Given the description of an element on the screen output the (x, y) to click on. 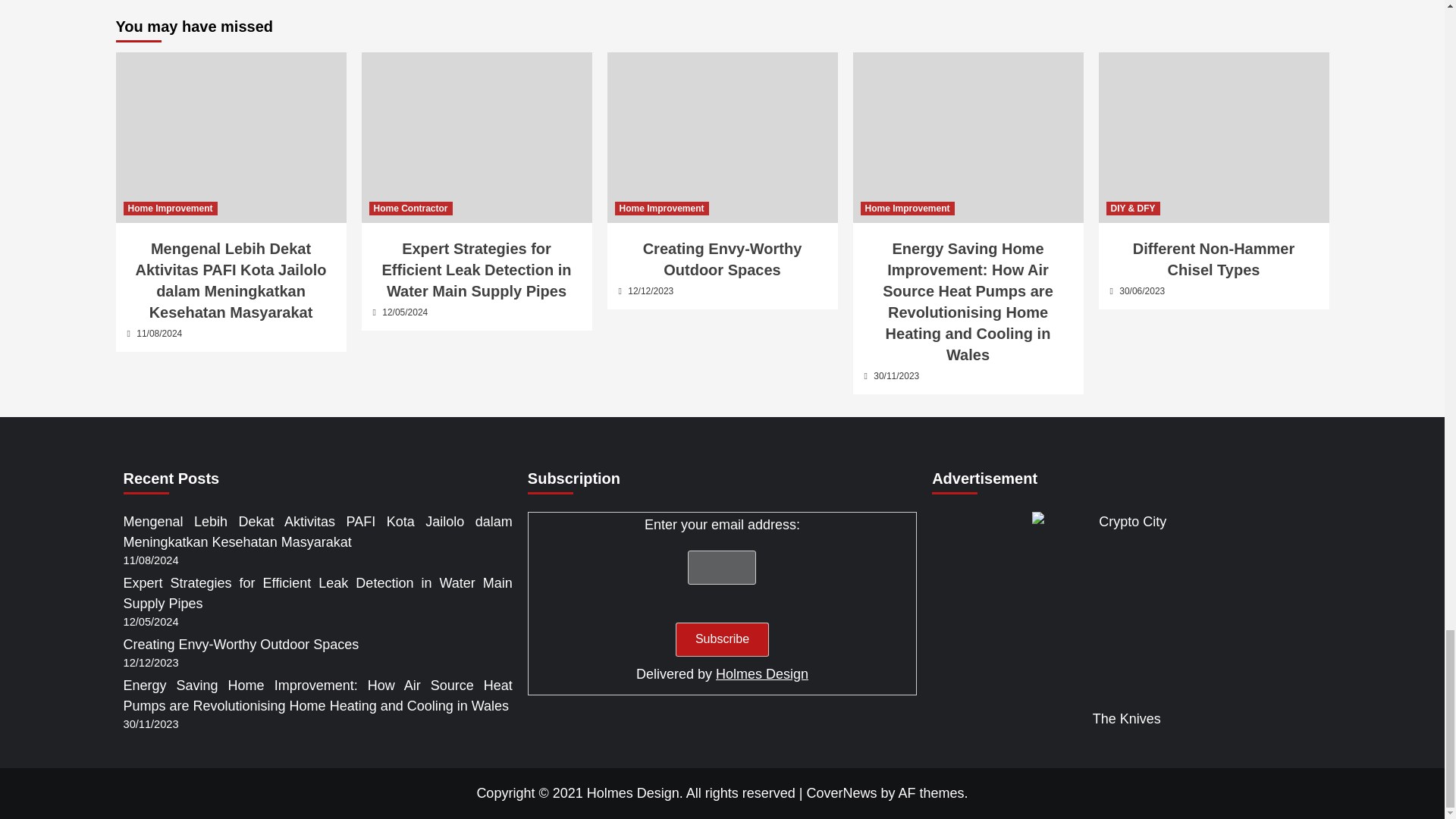
Creating Envy-Worthy Outdoor Spaces (722, 137)
Crypto City (1126, 606)
Different Non-Hammer Chisel Types (1212, 137)
Subscribe (721, 639)
